Given the description of an element on the screen output the (x, y) to click on. 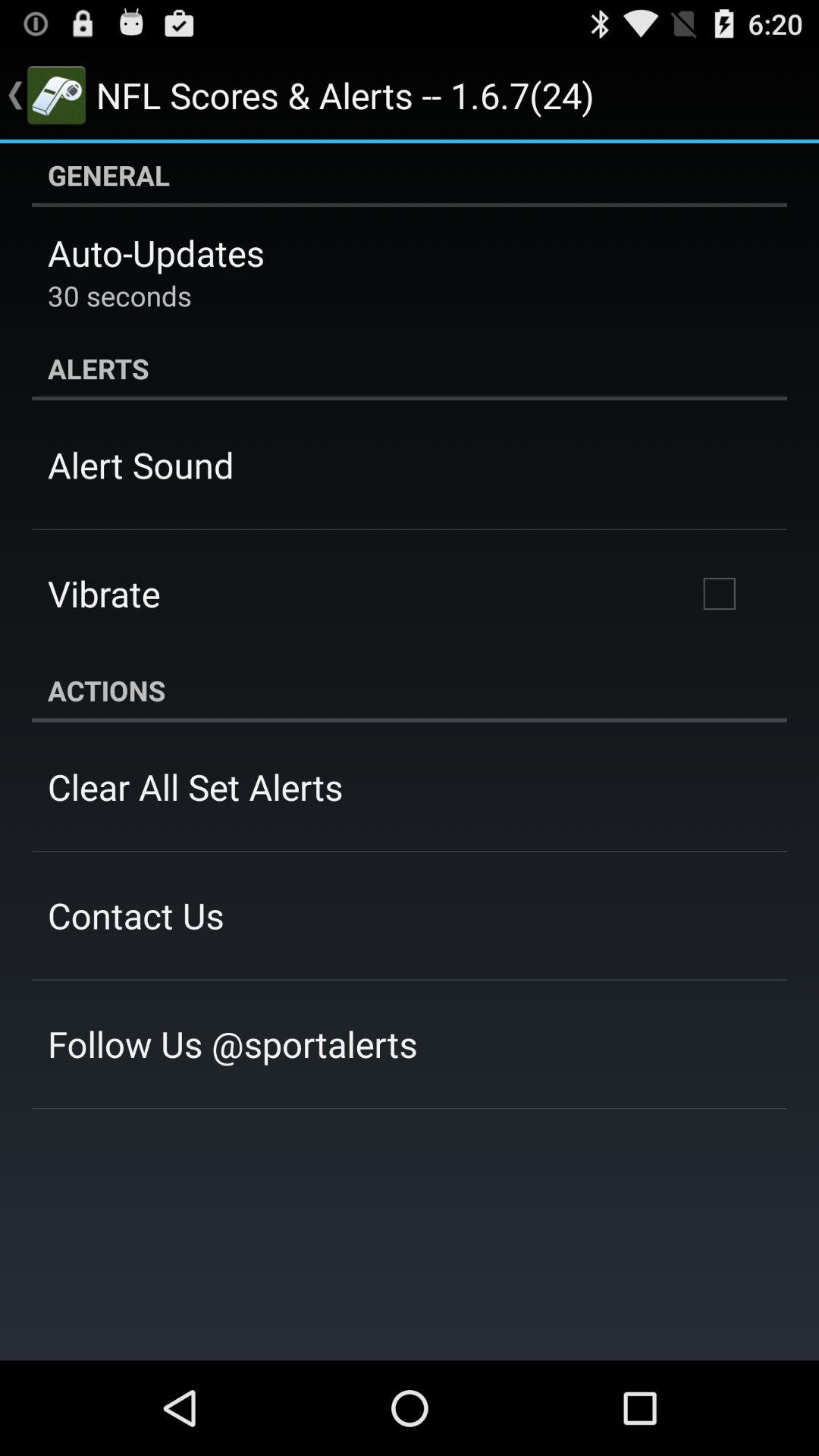
turn off icon to the right of vibrate (719, 593)
